Given the description of an element on the screen output the (x, y) to click on. 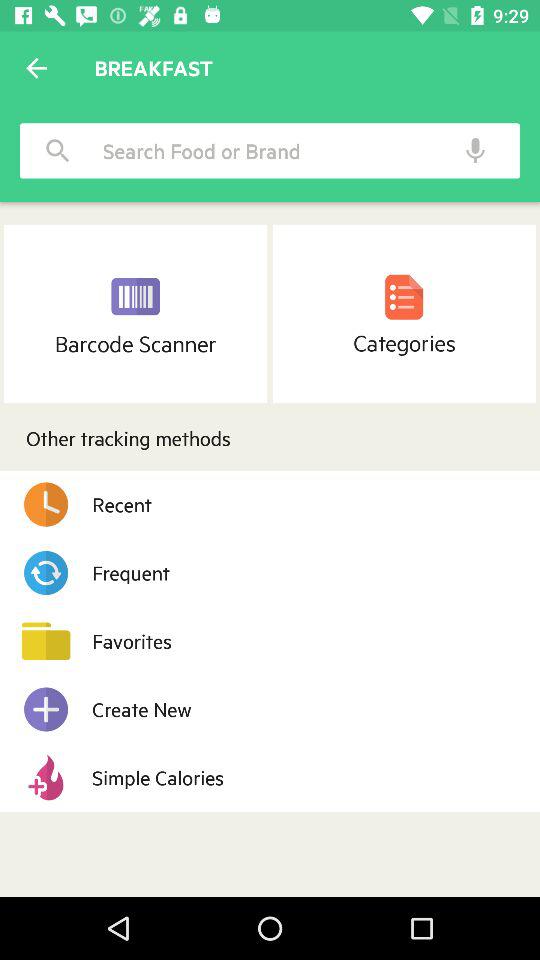
tap icon above the barcode scanner icon (57, 150)
